Given the description of an element on the screen output the (x, y) to click on. 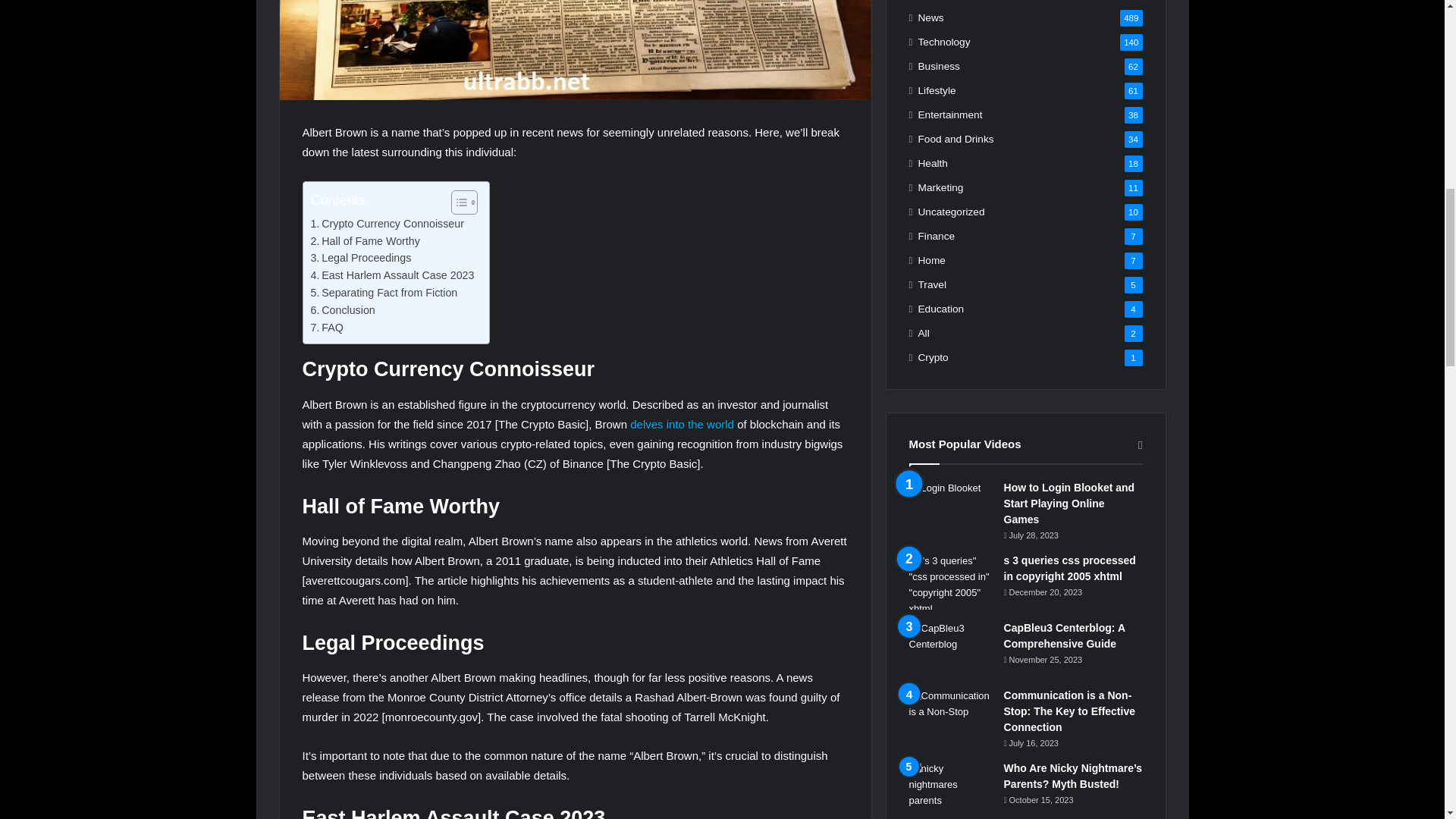
Conclusion (343, 310)
Crypto Currency Connoisseur (387, 223)
Legal Proceedings (361, 257)
Crypto Currency Connoisseur (387, 223)
East Harlem Assault Case 2023 (392, 275)
FAQ (327, 327)
Hall of Fame Worthy (365, 241)
Separating Fact from Fiction (384, 293)
